Given the description of an element on the screen output the (x, y) to click on. 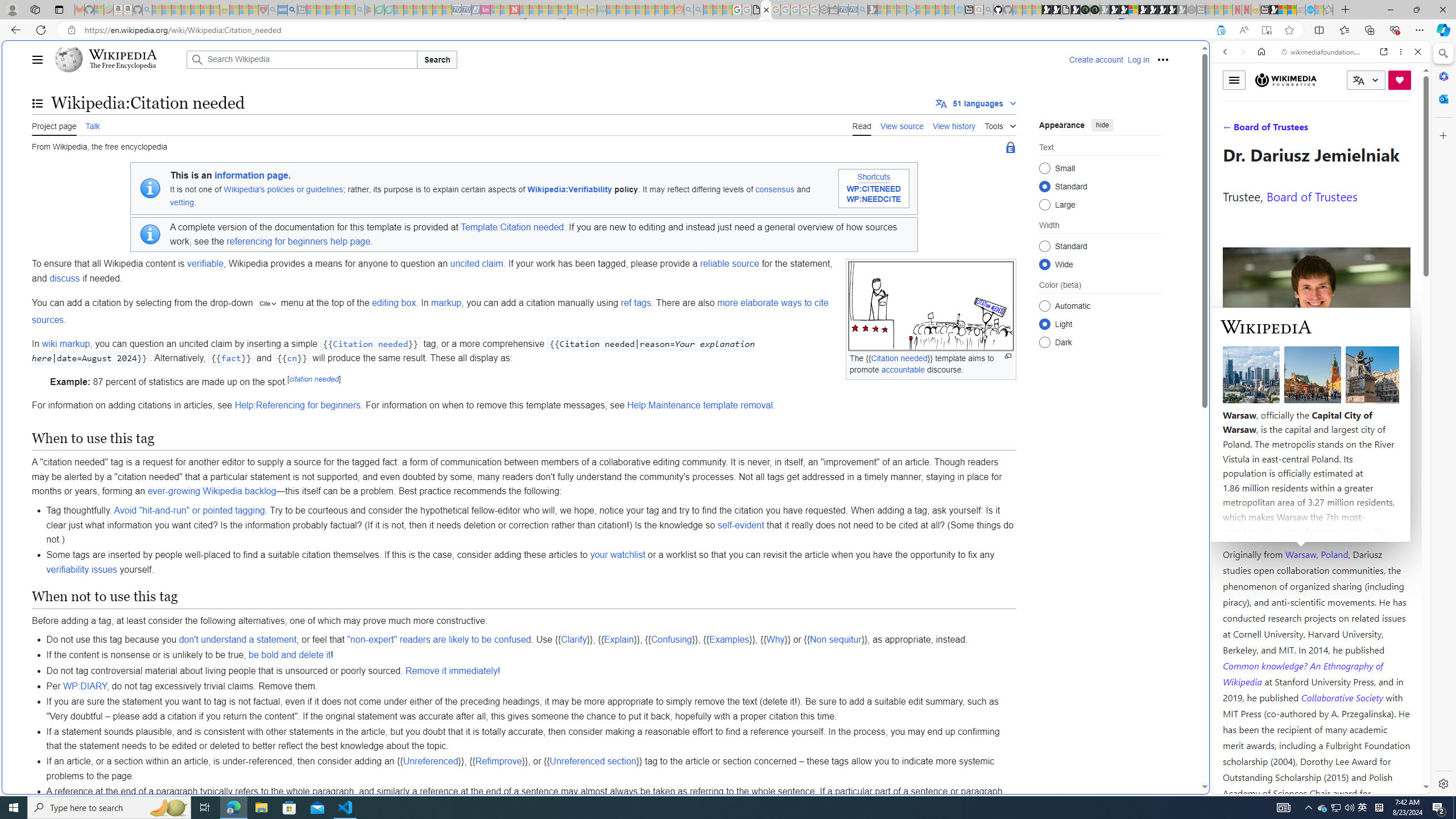
View history (954, 124)
Automatic (1044, 305)
WP:DIARY (84, 685)
CURRENT LANGUAGE: (1366, 80)
"non-expert" readers are likely to be confused (438, 639)
Class: i icon icon-translate language-switcher__icon (1358, 80)
